Given the description of an element on the screen output the (x, y) to click on. 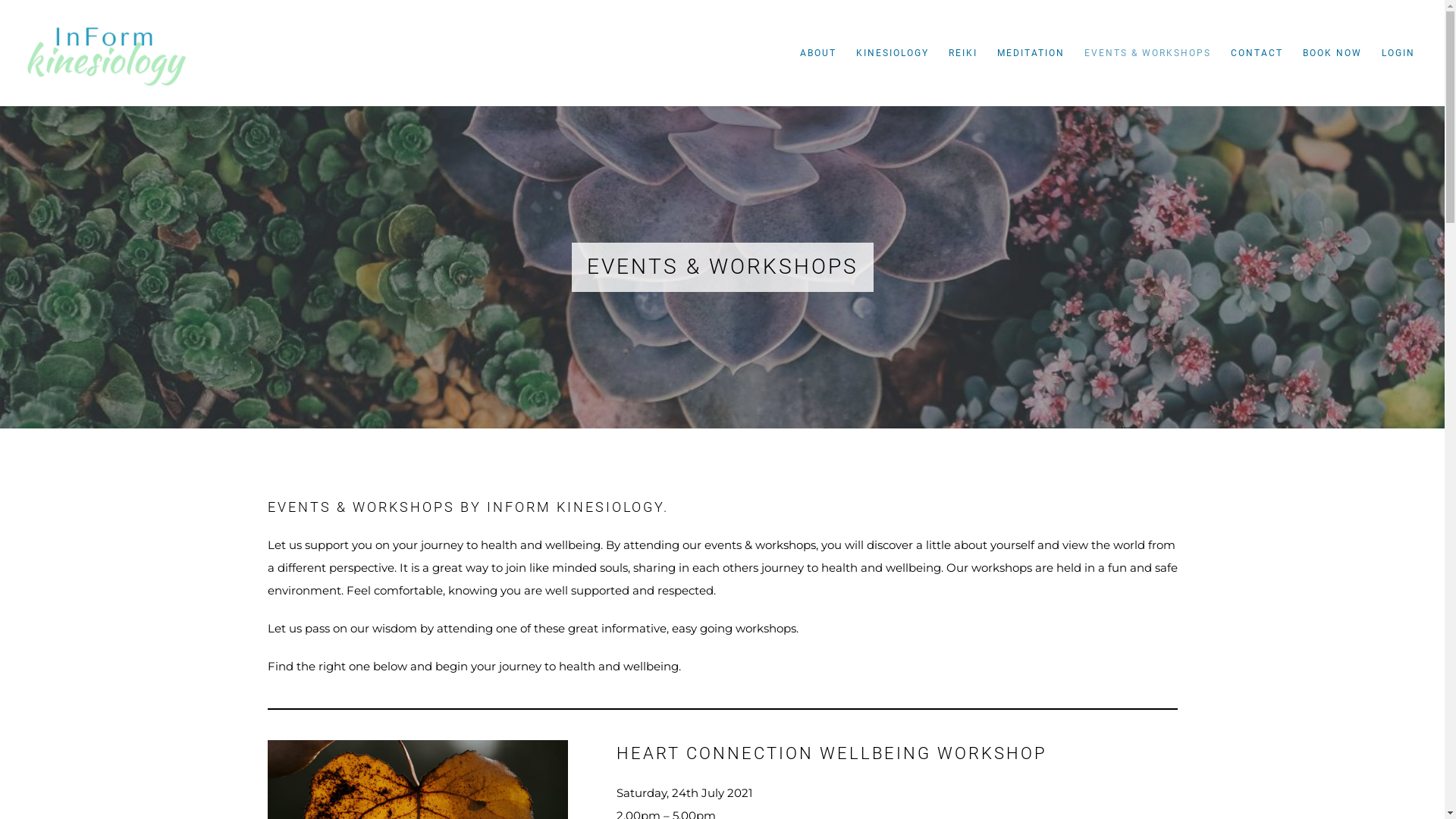
MEDITATION Element type: text (1030, 52)
ABOUT Element type: text (818, 52)
BOOK NOW Element type: text (1332, 52)
EVENTS & WORKSHOPS Element type: text (1147, 52)
KINESIOLOGY Element type: text (892, 52)
REIKI Element type: text (963, 52)
CONTACT Element type: text (1256, 52)
LOGIN Element type: text (1398, 52)
